Given the description of an element on the screen output the (x, y) to click on. 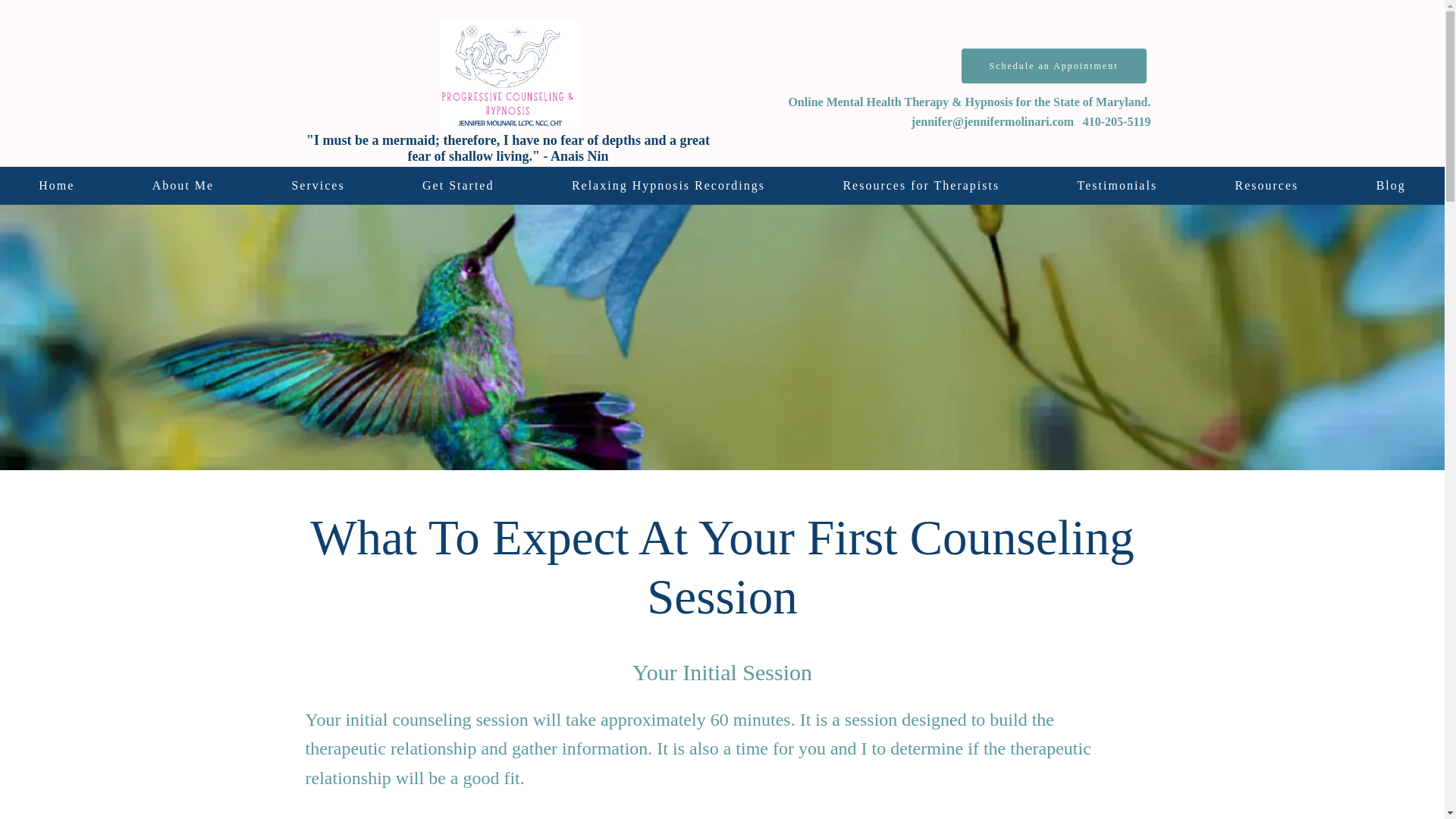
Testimonials (1116, 185)
Schedule an Appointment (1053, 65)
Resources for Therapists (920, 185)
Services (317, 185)
Get Started (458, 185)
Relaxing Hypnosis Recordings (668, 185)
410-205-5119 (1117, 121)
Resources (1265, 185)
Home (56, 185)
About Me (183, 185)
